Given the description of an element on the screen output the (x, y) to click on. 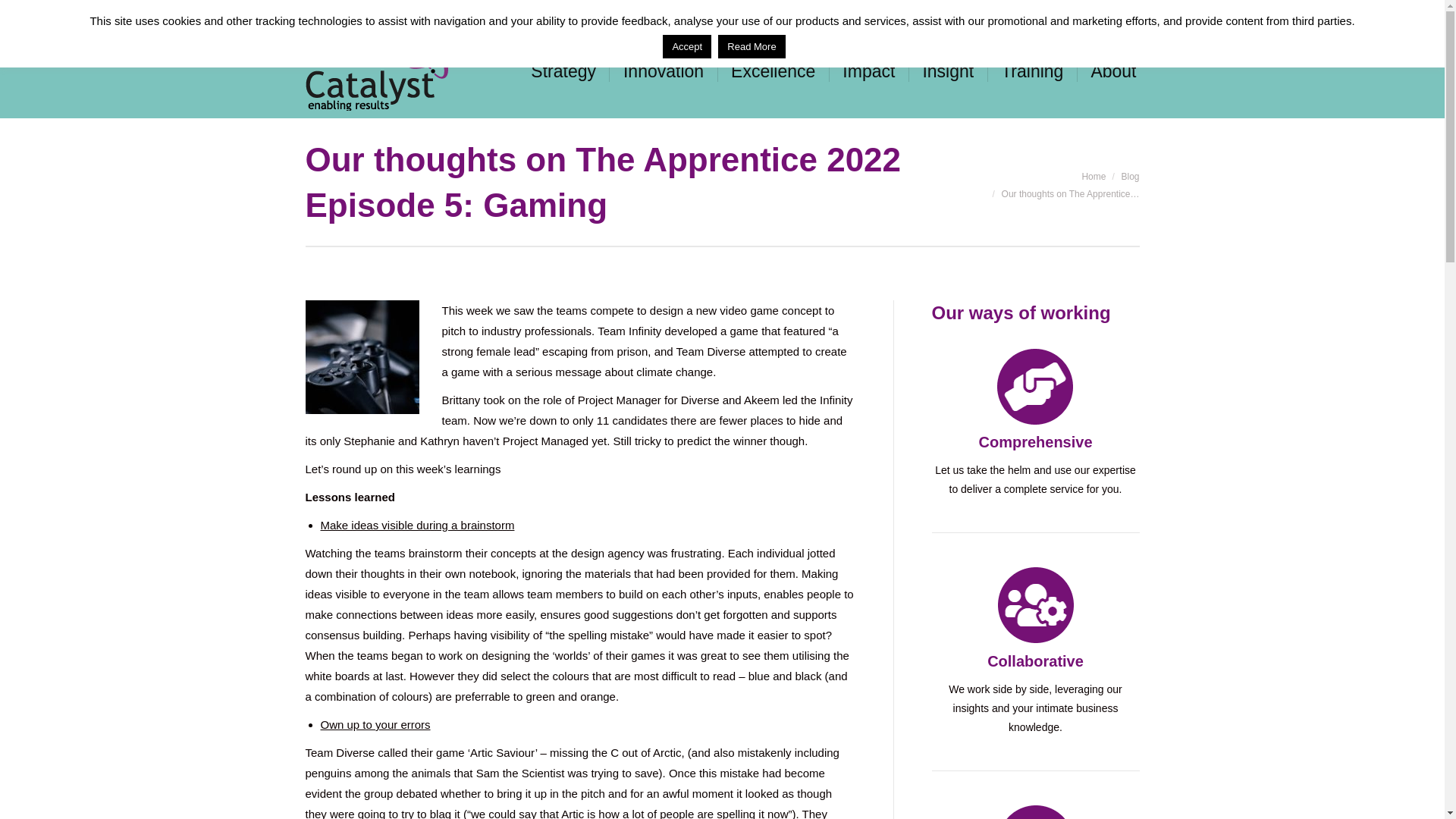
The BIZ - eLearning Zone (1032, 13)
Home (1093, 176)
Innovation (663, 72)
Facebook page opens in new window (816, 13)
Strategy (562, 72)
Linkedin page opens in new window (793, 13)
Excellence (773, 72)
Statistical Tools (905, 13)
 0 (1129, 13)
Blog (1129, 176)
Linkedin page opens in new window (793, 13)
X page opens in new window (838, 13)
X page opens in new window (838, 13)
Facebook page opens in new window (816, 13)
